Given the description of an element on the screen output the (x, y) to click on. 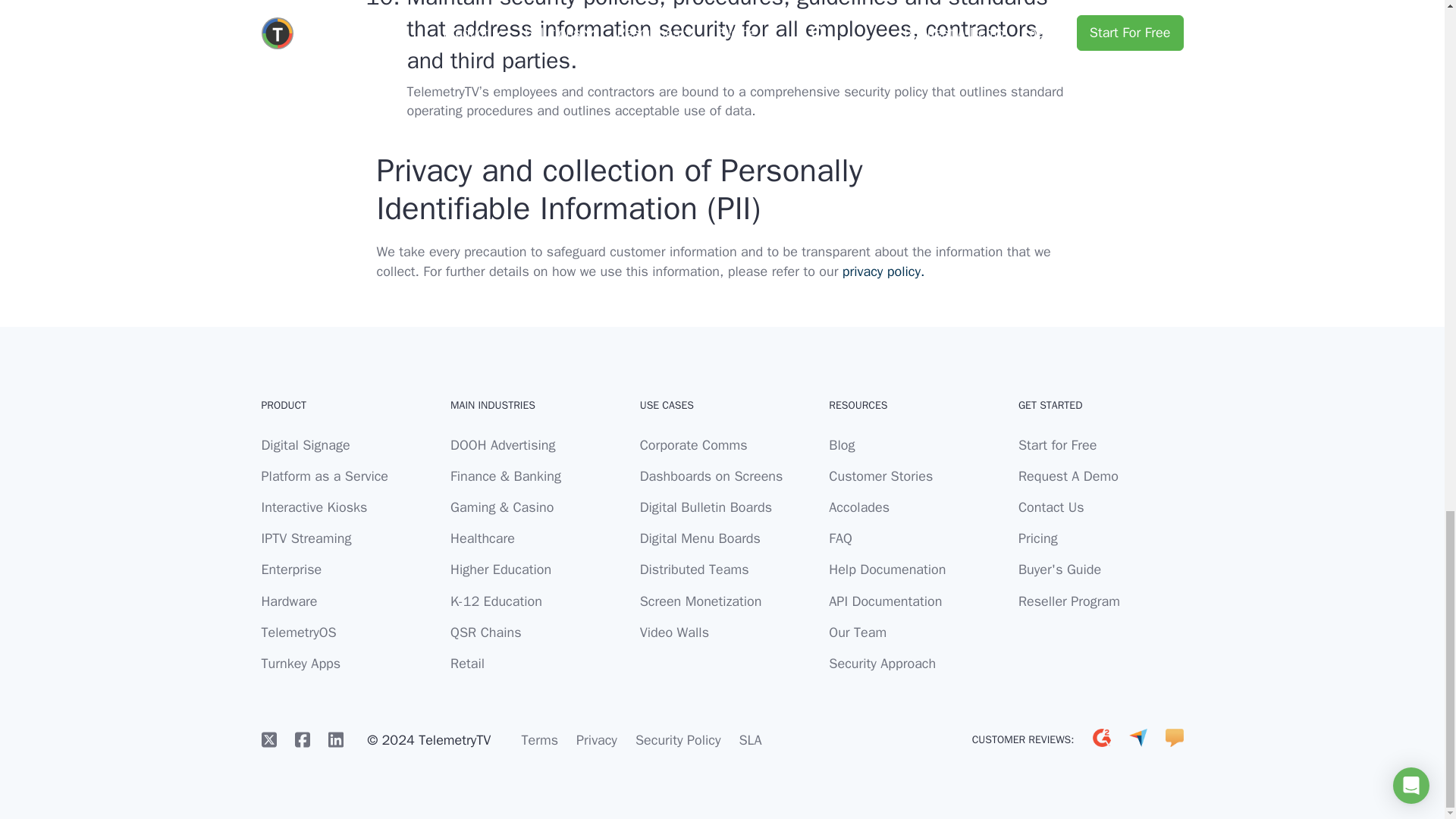
Hardware (288, 600)
Digital Signage (304, 444)
Turnkey Apps (300, 663)
DOOH Advertising (501, 444)
TelemetryOS (298, 632)
Platform as a Service (324, 475)
Interactive Kiosks (313, 506)
Request A Demo (1067, 475)
Enterprise (290, 569)
privacy policy. (883, 271)
IPTV Streaming (305, 538)
